Given the description of an element on the screen output the (x, y) to click on. 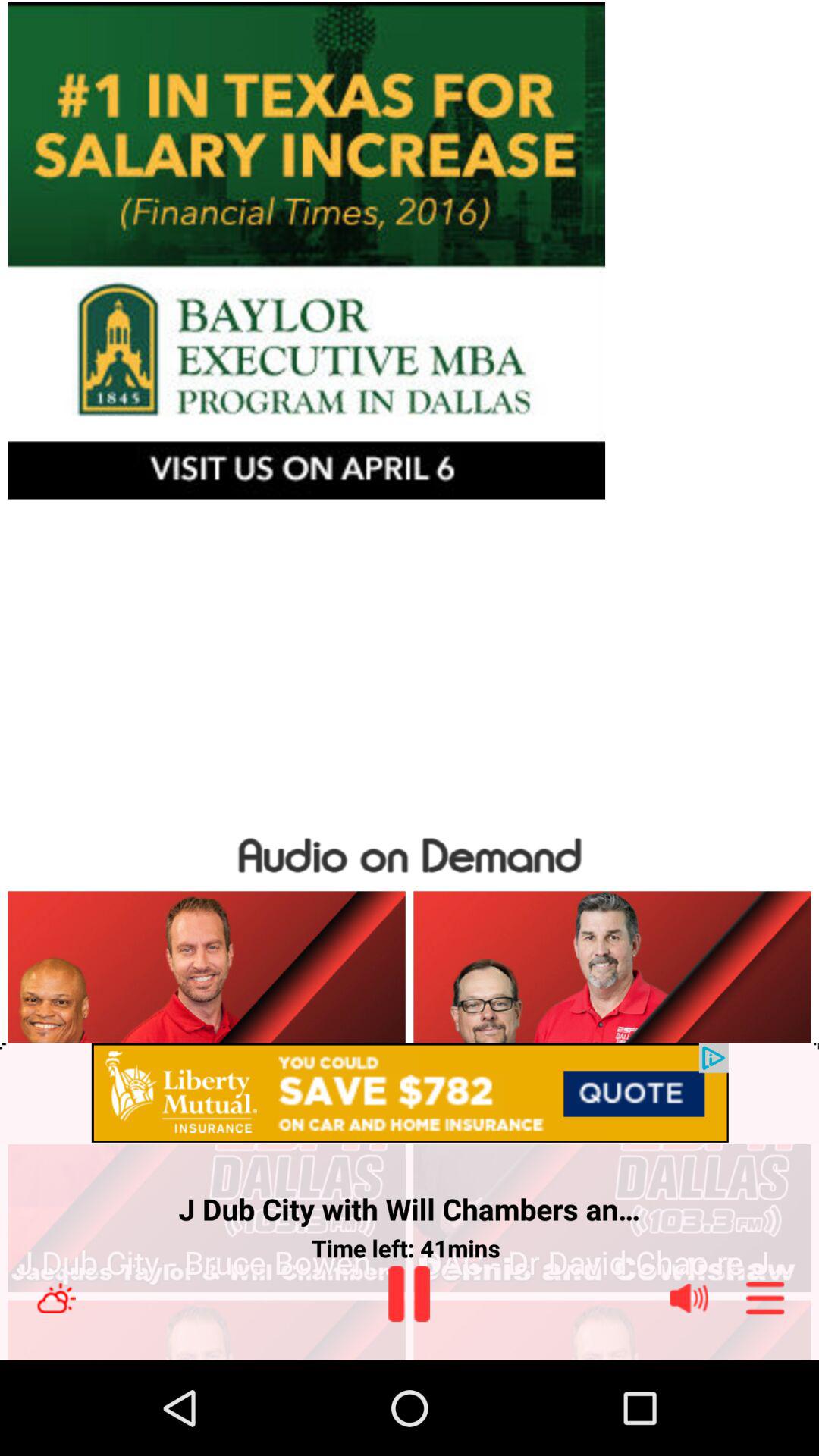
banner advertisement (409, 250)
